Given the description of an element on the screen output the (x, y) to click on. 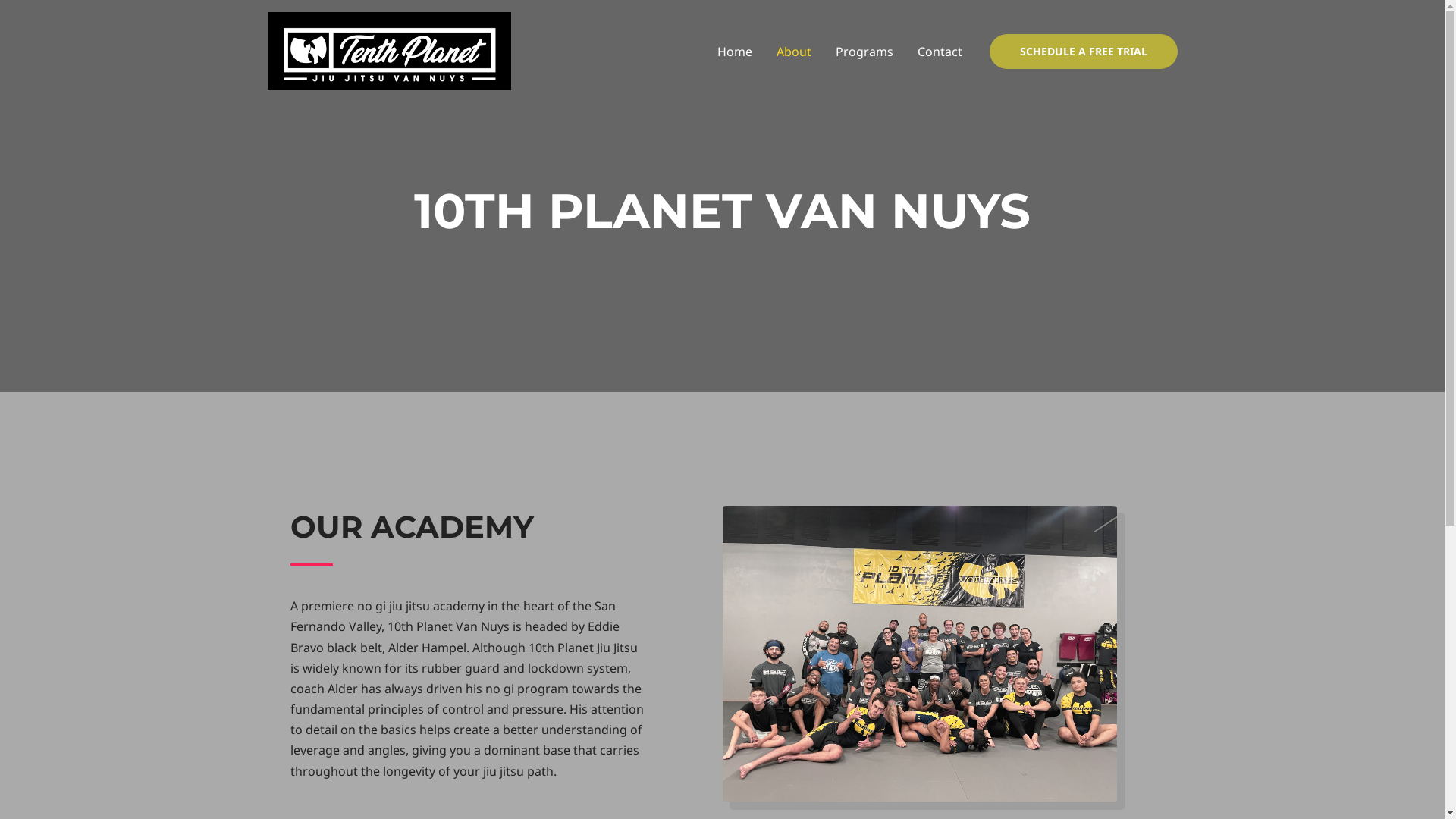
Contact Element type: text (939, 51)
Programs Element type: text (864, 51)
About Element type: text (793, 51)
SCHEDULE A FREE TRIAL Element type: text (1082, 51)
Home Element type: text (734, 51)
